Given the description of an element on the screen output the (x, y) to click on. 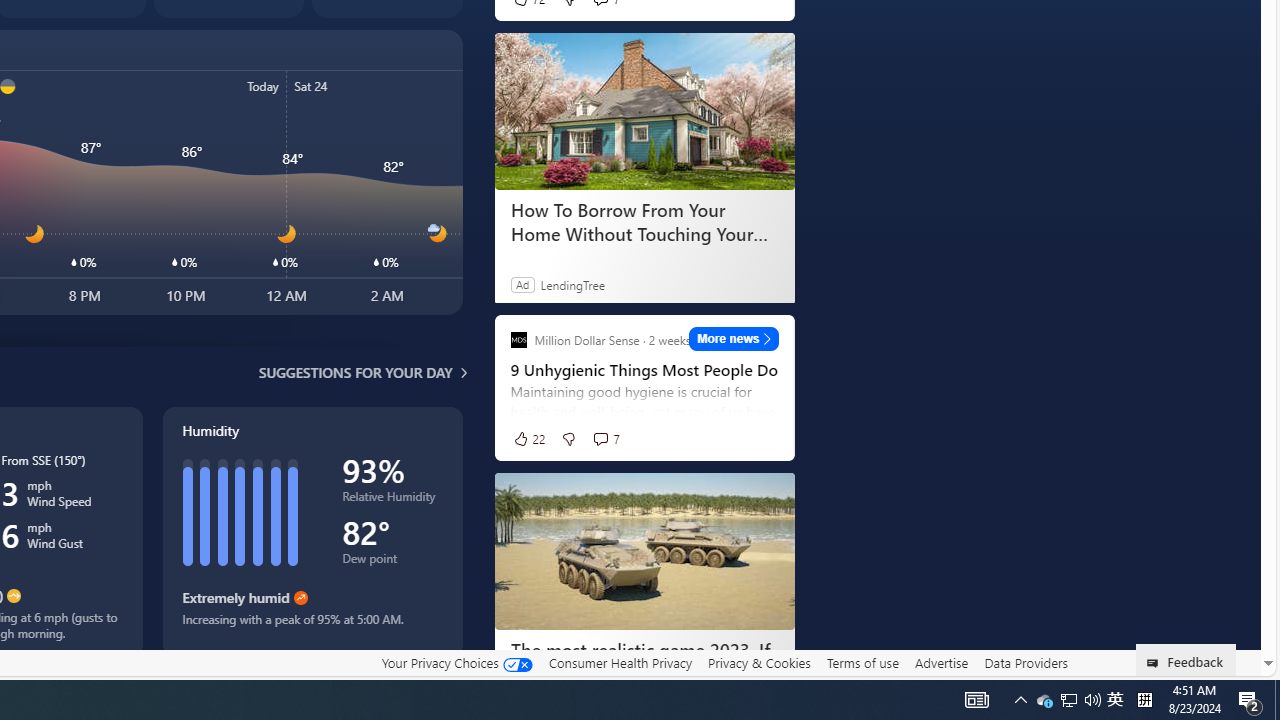
Terms of use (861, 663)
Class: feedback_link_icon-DS-EntryPoint1-1 (1156, 663)
Data Providers (1025, 662)
Data Providers (1025, 663)
More news (733, 338)
Your Privacy Choices (456, 663)
Consumer Health Privacy (619, 662)
Privacy & Cookies (759, 663)
Relative Humidity (391, 500)
